Given the description of an element on the screen output the (x, y) to click on. 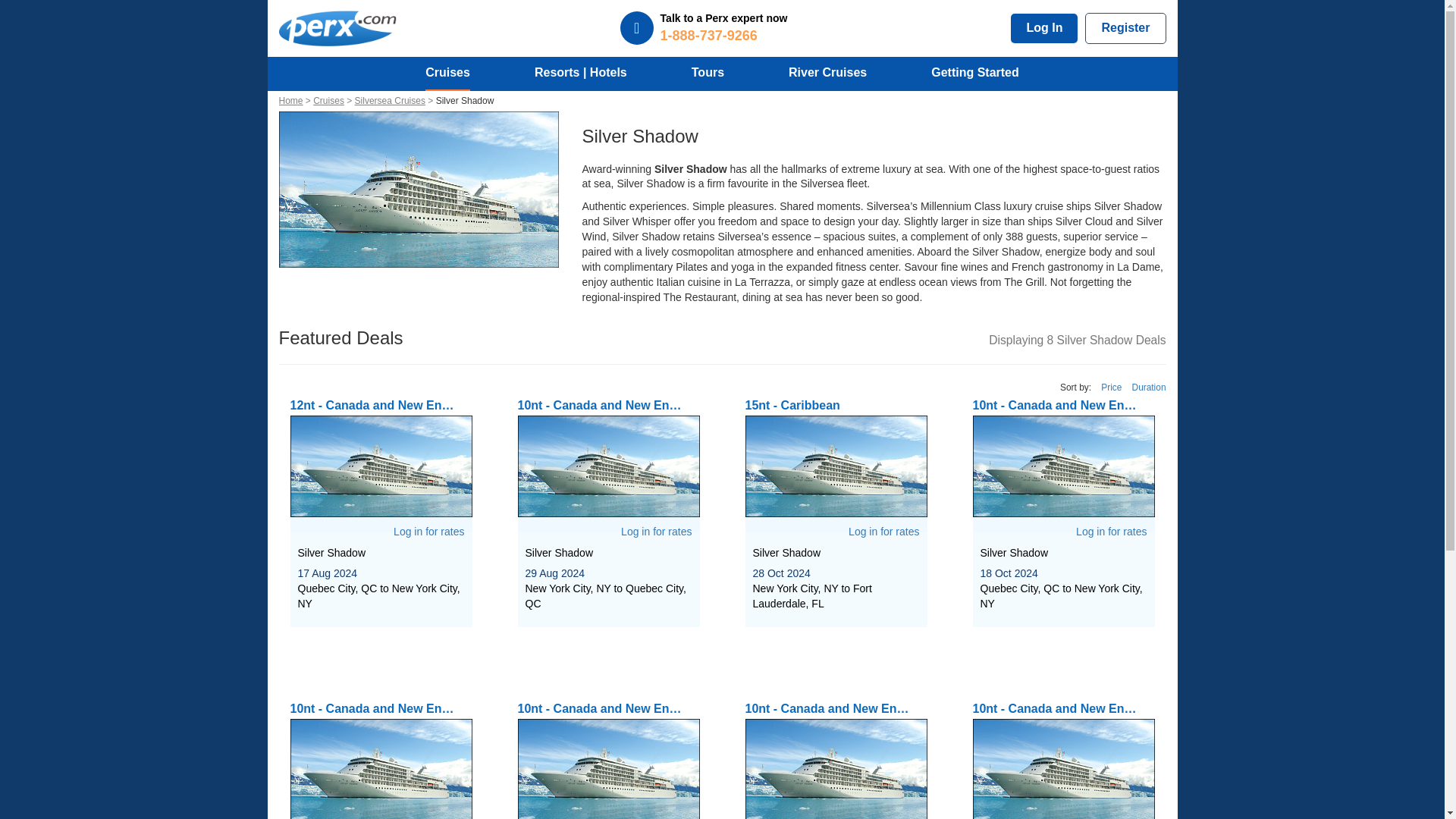
Cruises (333, 101)
Cruises (447, 73)
Silversea Cruises (395, 101)
perx.com (337, 27)
River Cruises (827, 73)
15nt - Caribbean (835, 457)
Tours (707, 73)
Home (296, 101)
Price (1110, 387)
